Given the description of an element on the screen output the (x, y) to click on. 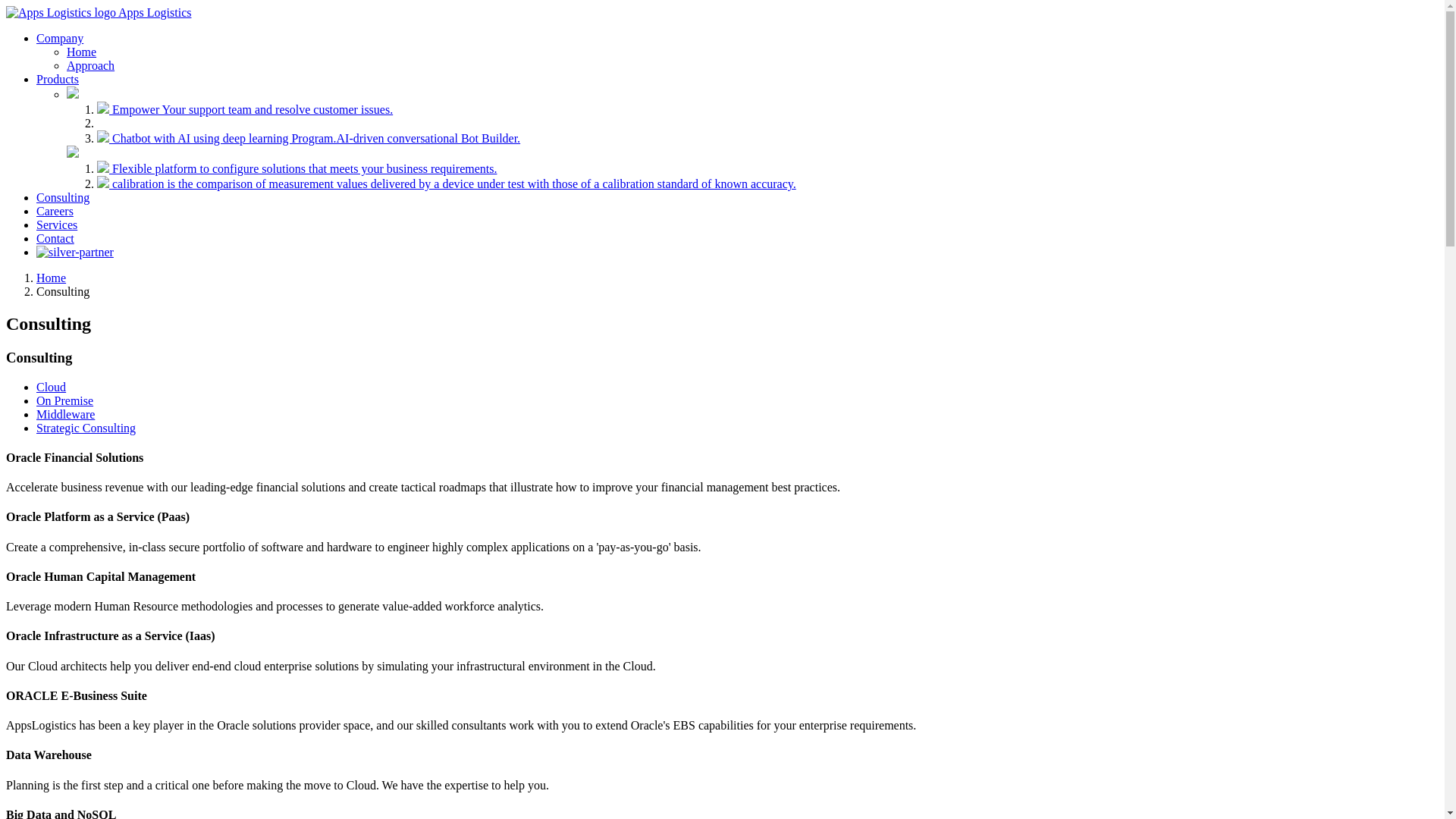
Home Element type: text (81, 51)
Strategic Consulting Element type: text (85, 427)
Consulting Element type: text (62, 197)
Cloud Element type: text (50, 386)
Company Element type: text (59, 37)
Approach Element type: text (90, 65)
Careers Element type: text (54, 210)
Contact Element type: text (55, 238)
Services Element type: text (56, 224)
On Premise Element type: text (64, 400)
Empower Your support team and resolve customer issues. Element type: text (244, 109)
Home Element type: text (50, 277)
Apps Logistics Element type: text (98, 12)
Products Element type: text (57, 78)
Middleware Element type: text (65, 413)
